Given the description of an element on the screen output the (x, y) to click on. 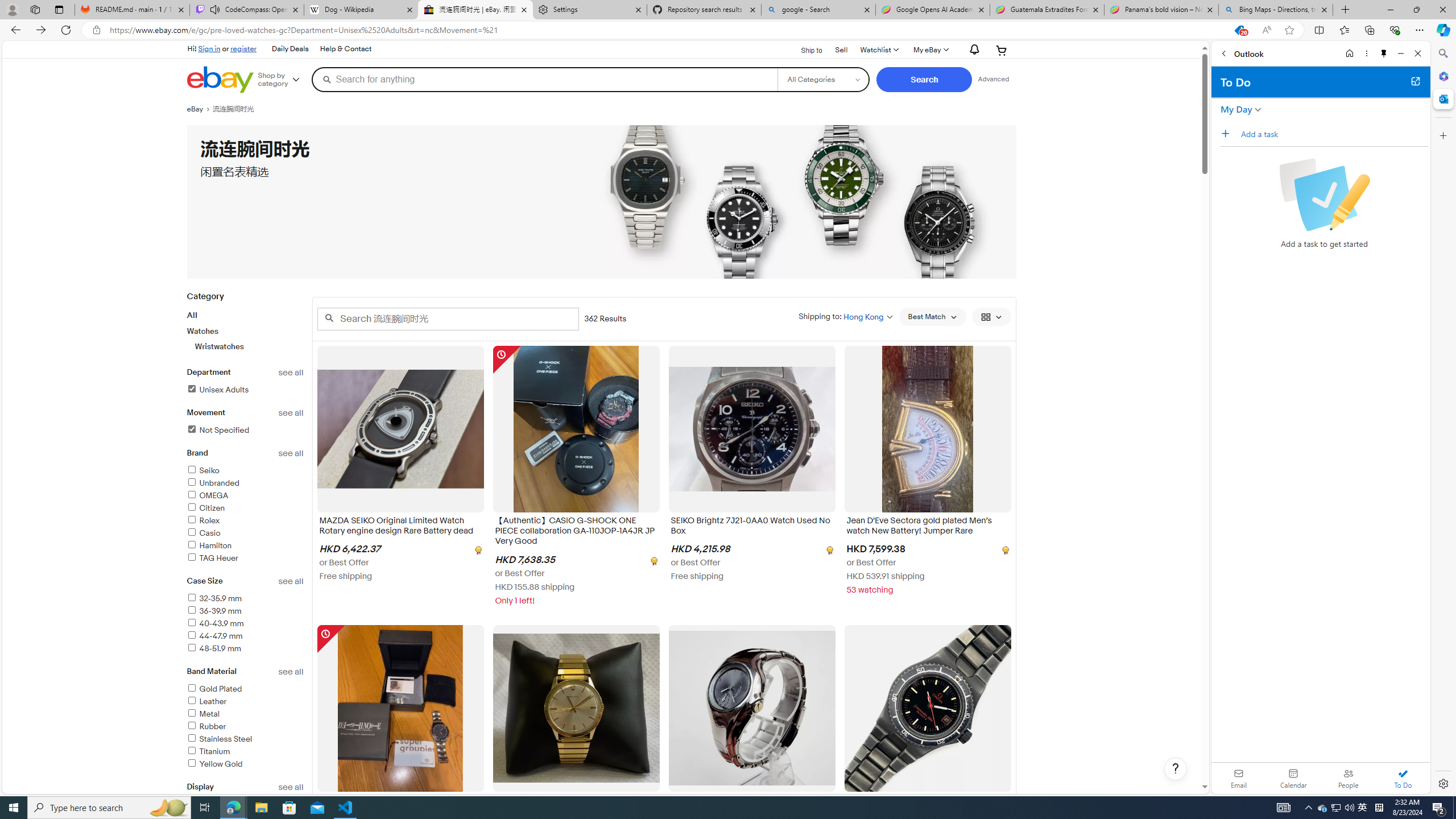
Shipping to: Hong Kong (845, 316)
My Day (1236, 109)
WatchesWristwatches (245, 338)
eBay Home (219, 79)
All (192, 315)
Not SpecifiedFilter Applied (245, 430)
40-43.9 mm (245, 624)
Rolex (202, 520)
